Given the description of an element on the screen output the (x, y) to click on. 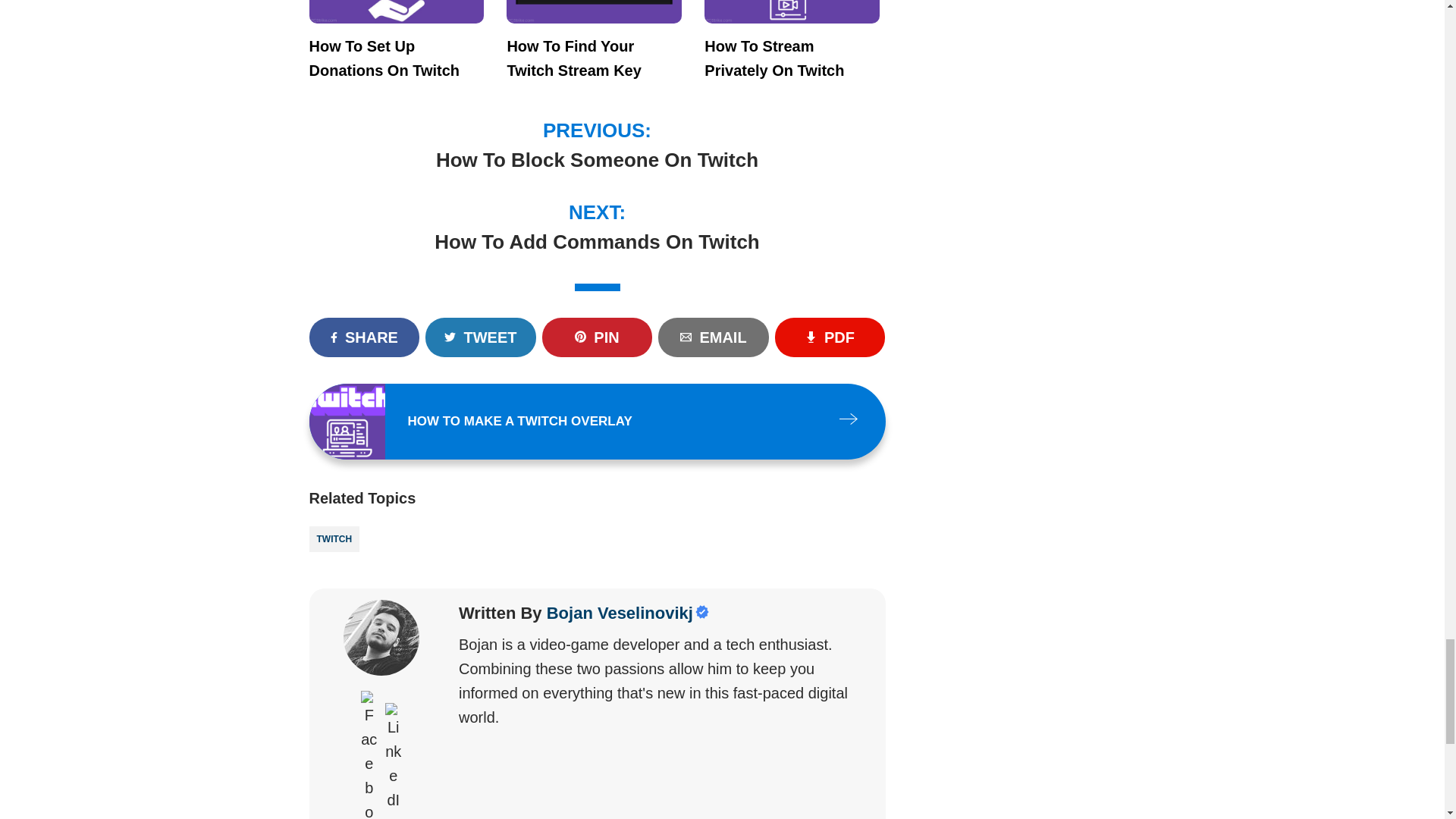
Download PDF (829, 337)
